Given the description of an element on the screen output the (x, y) to click on. 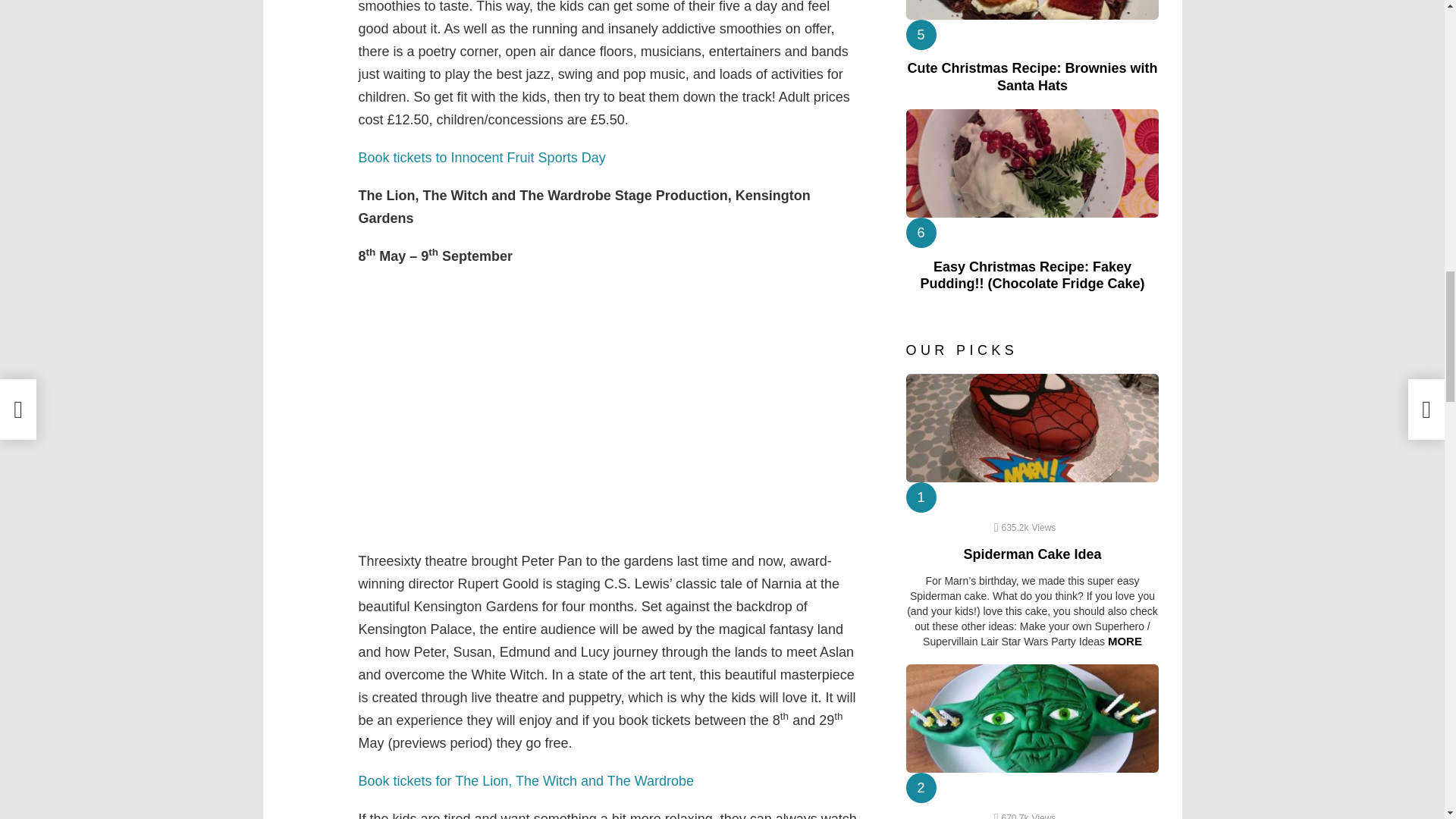
Book tickets to Innocent Fruit Sports Day (481, 157)
Innocent Drinks sports day (481, 157)
The Lion The Witch and The Wardrobe (527, 780)
Book tickets for The Lion, The Witch and The Wardrobe  (527, 780)
